Given the description of an element on the screen output the (x, y) to click on. 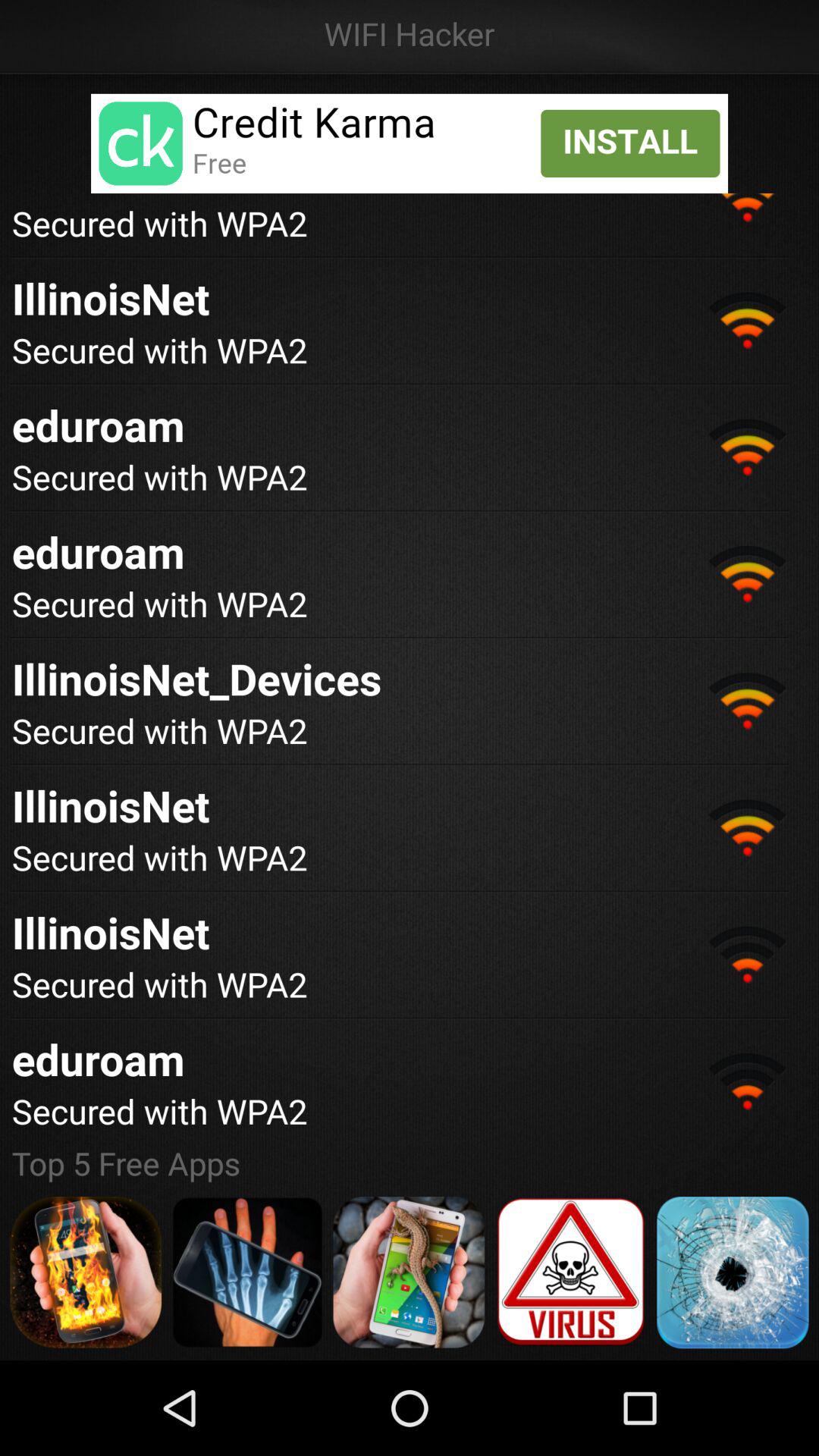
select button (408, 1271)
